Given the description of an element on the screen output the (x, y) to click on. 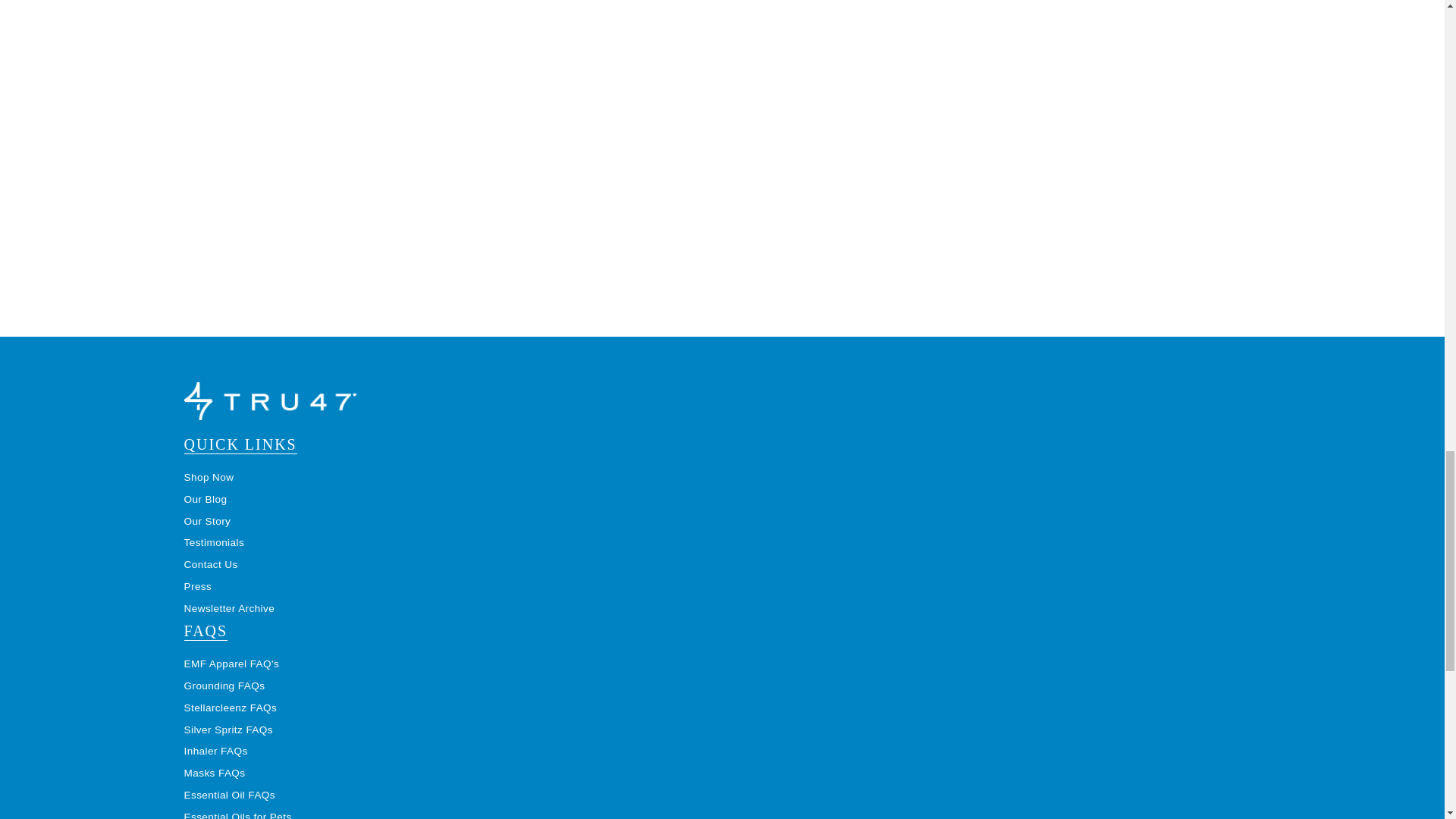
EMF Apparel FAQ's (231, 663)
Our Blog (205, 499)
Newsletter Archive (229, 608)
Testimonials (213, 542)
Our Story (206, 521)
Press (197, 586)
All collections (207, 477)
Contact Us (210, 564)
